Given the description of an element on the screen output the (x, y) to click on. 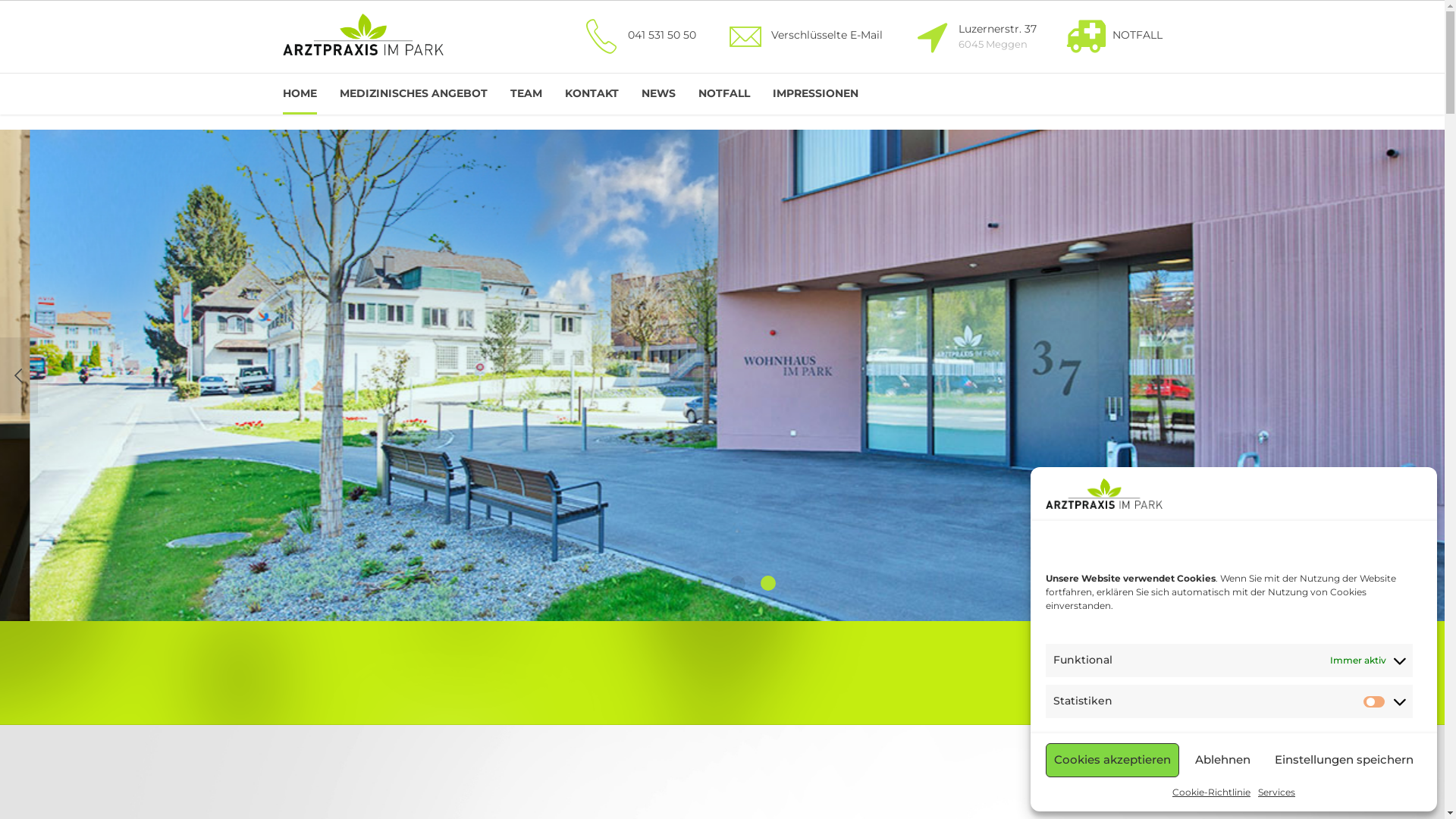
IMPRESSIONEN Element type: text (814, 93)
Cookies akzeptieren Element type: text (1112, 760)
4 Element type: text (767, 582)
NEWS Element type: text (658, 93)
KONTAKT Element type: text (591, 93)
MEDIZINISCHES ANGEBOT Element type: text (413, 93)
1 Element type: text (676, 582)
HOME Element type: text (299, 93)
Services Element type: text (1276, 792)
3 Element type: text (736, 582)
Cookie-Richtlinie Element type: text (1211, 792)
NOTFALL Element type: text (723, 93)
NOTFALL Element type: text (1112, 36)
Luzernerstr. 37
6045 Meggen Element type: text (972, 36)
2 Element type: text (706, 582)
TEAM Element type: text (525, 93)
Ablehnen Element type: text (1222, 760)
Einstellungen speichern Element type: text (1343, 760)
